Given the description of an element on the screen output the (x, y) to click on. 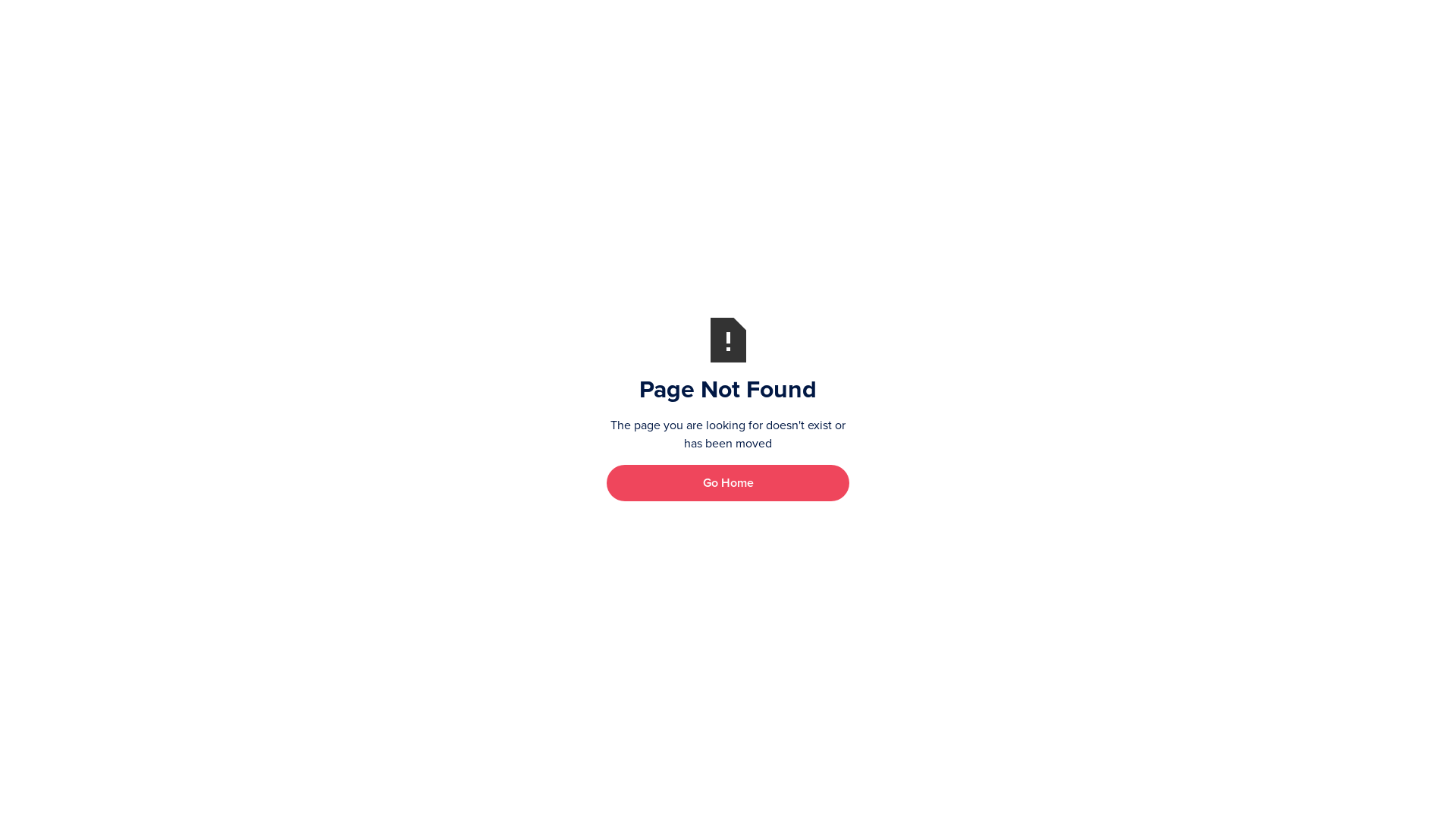
Go Home Element type: text (727, 482)
